Given the description of an element on the screen output the (x, y) to click on. 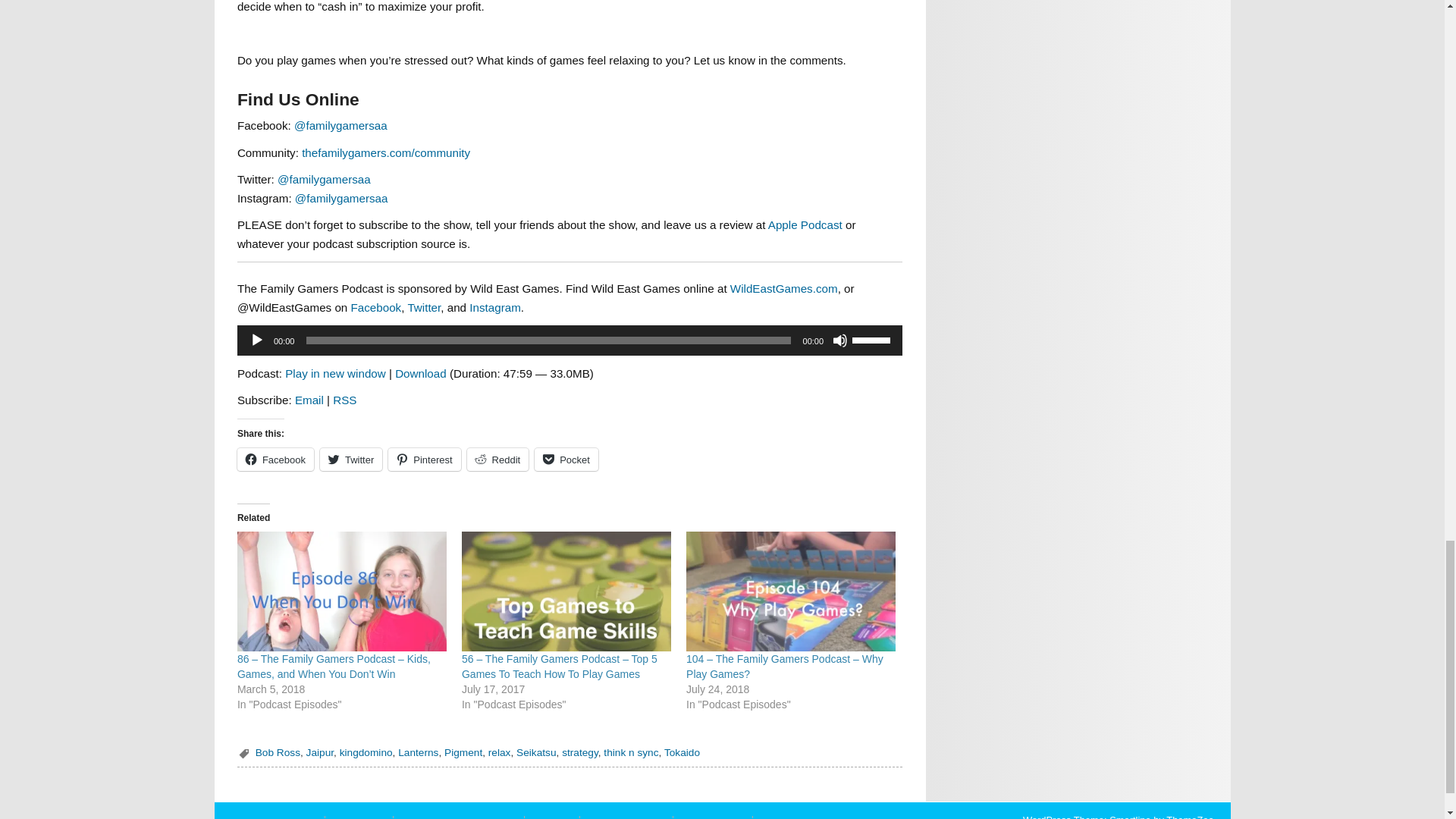
Click to share on Pinterest (424, 458)
Click to share on Facebook (275, 458)
Download (420, 373)
Play (256, 340)
Click to share on Pocket (566, 458)
Subscribe via RSS (344, 399)
Click to share on Twitter (350, 458)
Apple Podcast (805, 224)
Click to share on Reddit (498, 458)
Mute (839, 340)
WildEastGames.com (784, 287)
Instagram (494, 307)
Facebook (375, 307)
Twitter (424, 307)
Subscribe by Email (309, 399)
